Given the description of an element on the screen output the (x, y) to click on. 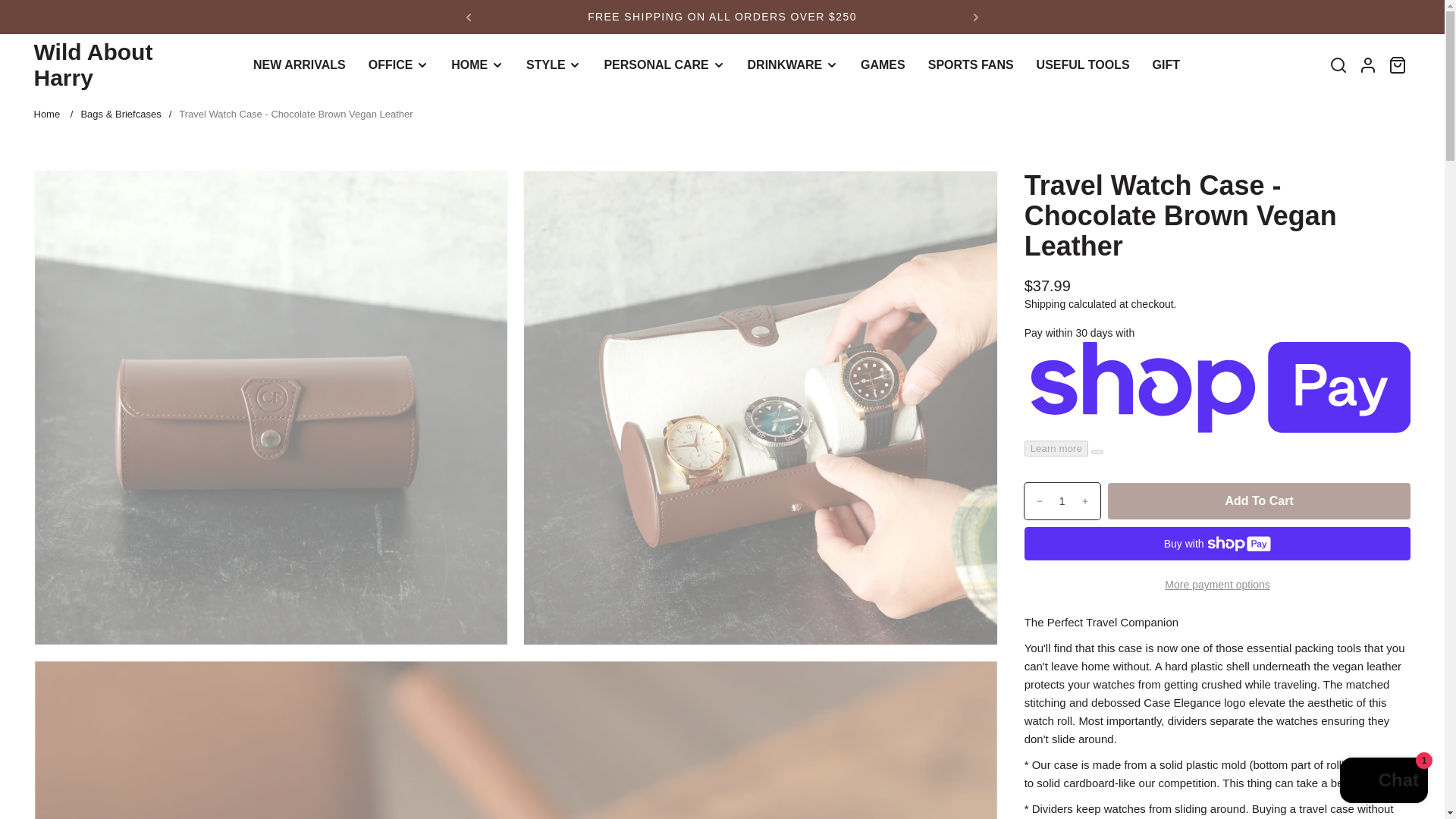
1 (1062, 501)
OFFICE (397, 65)
NEW ARRIVALS (304, 65)
